Given the description of an element on the screen output the (x, y) to click on. 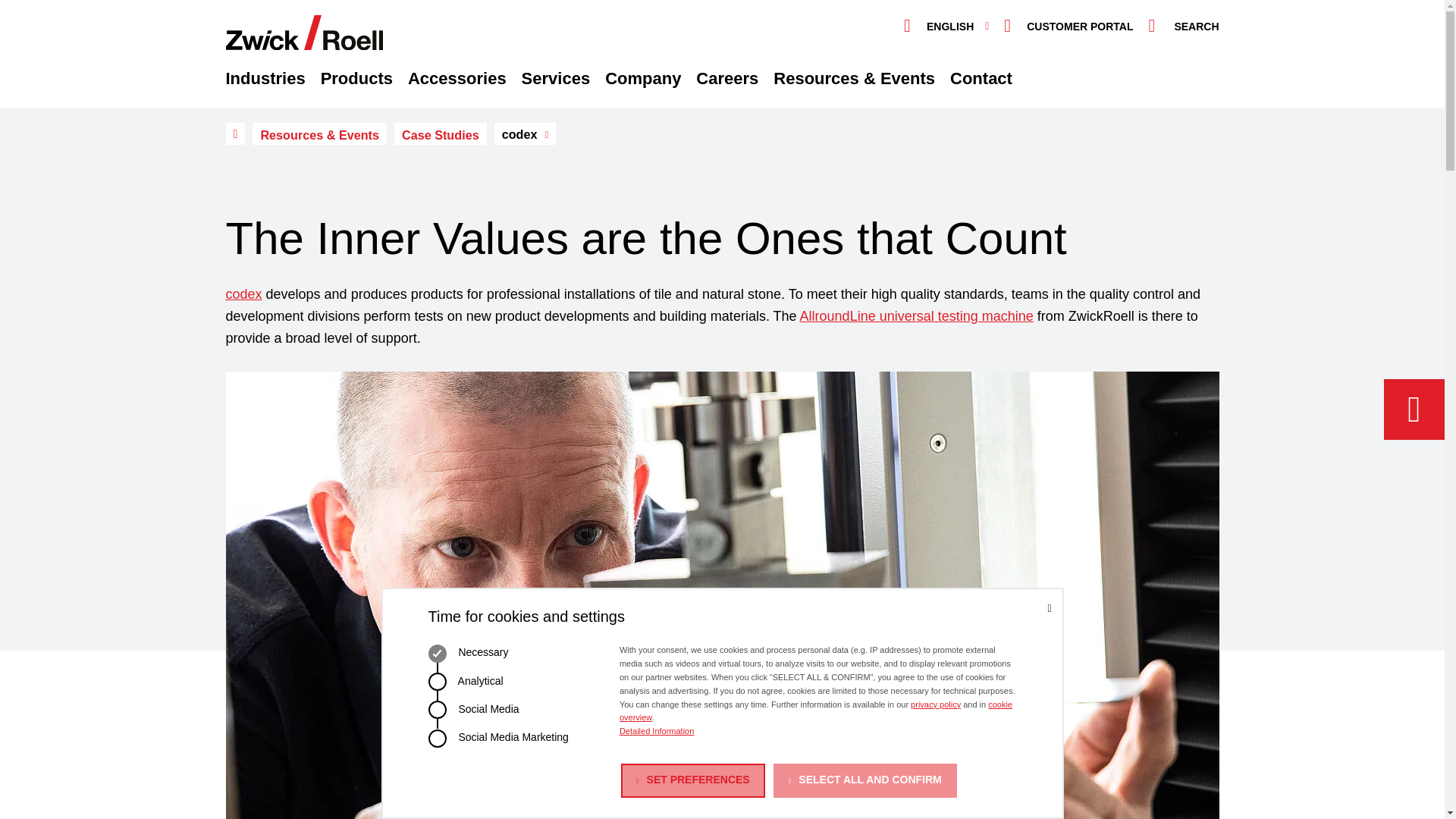
 SEARCH (1183, 27)
ZwickRoell (722, 32)
CUSTOMER PORTAL (1068, 27)
Case Studies (440, 133)
ENGLISH (946, 26)
Search (1183, 27)
